Given the description of an element on the screen output the (x, y) to click on. 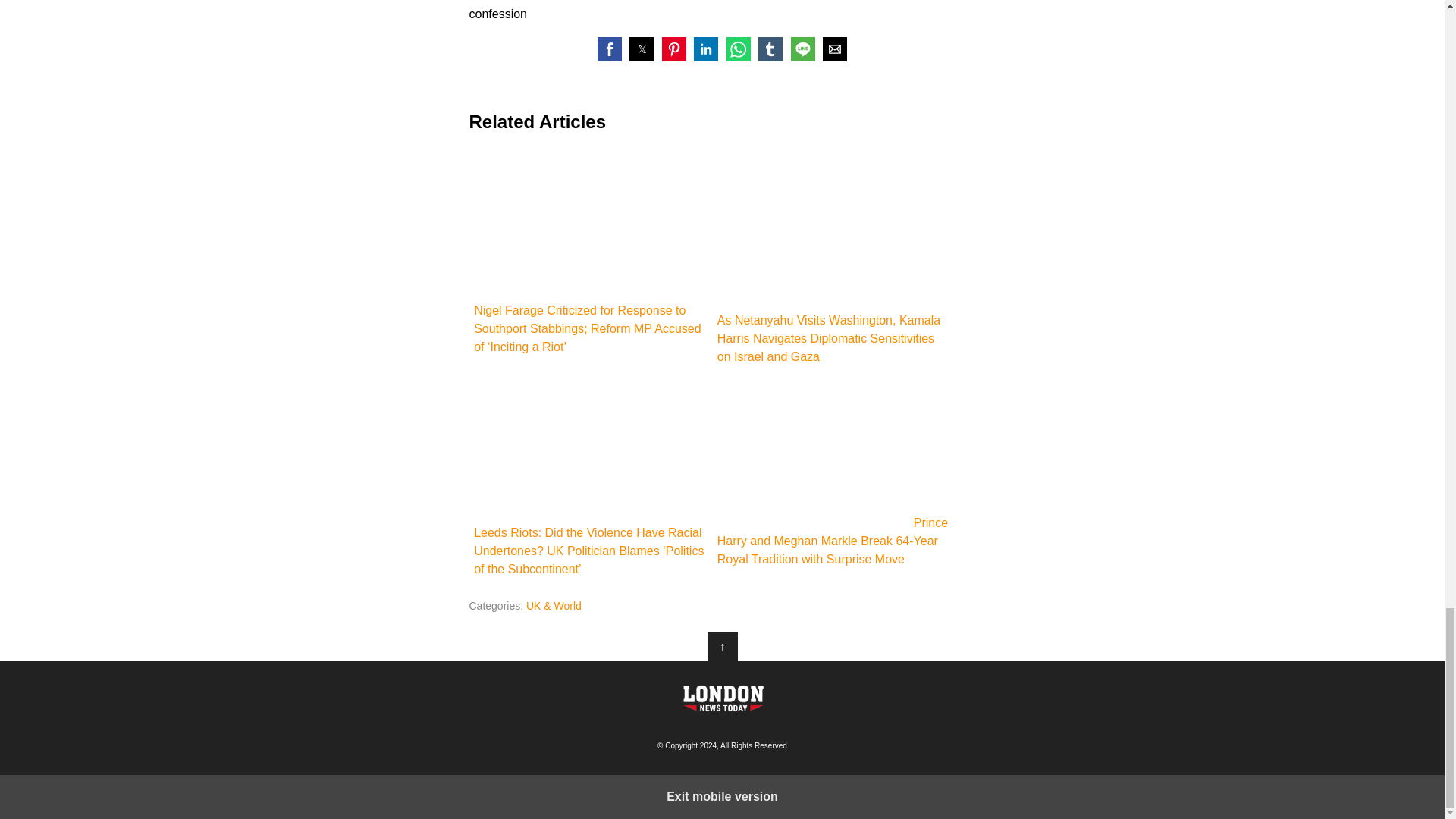
Londonnewstime.com (721, 698)
